Given the description of an element on the screen output the (x, y) to click on. 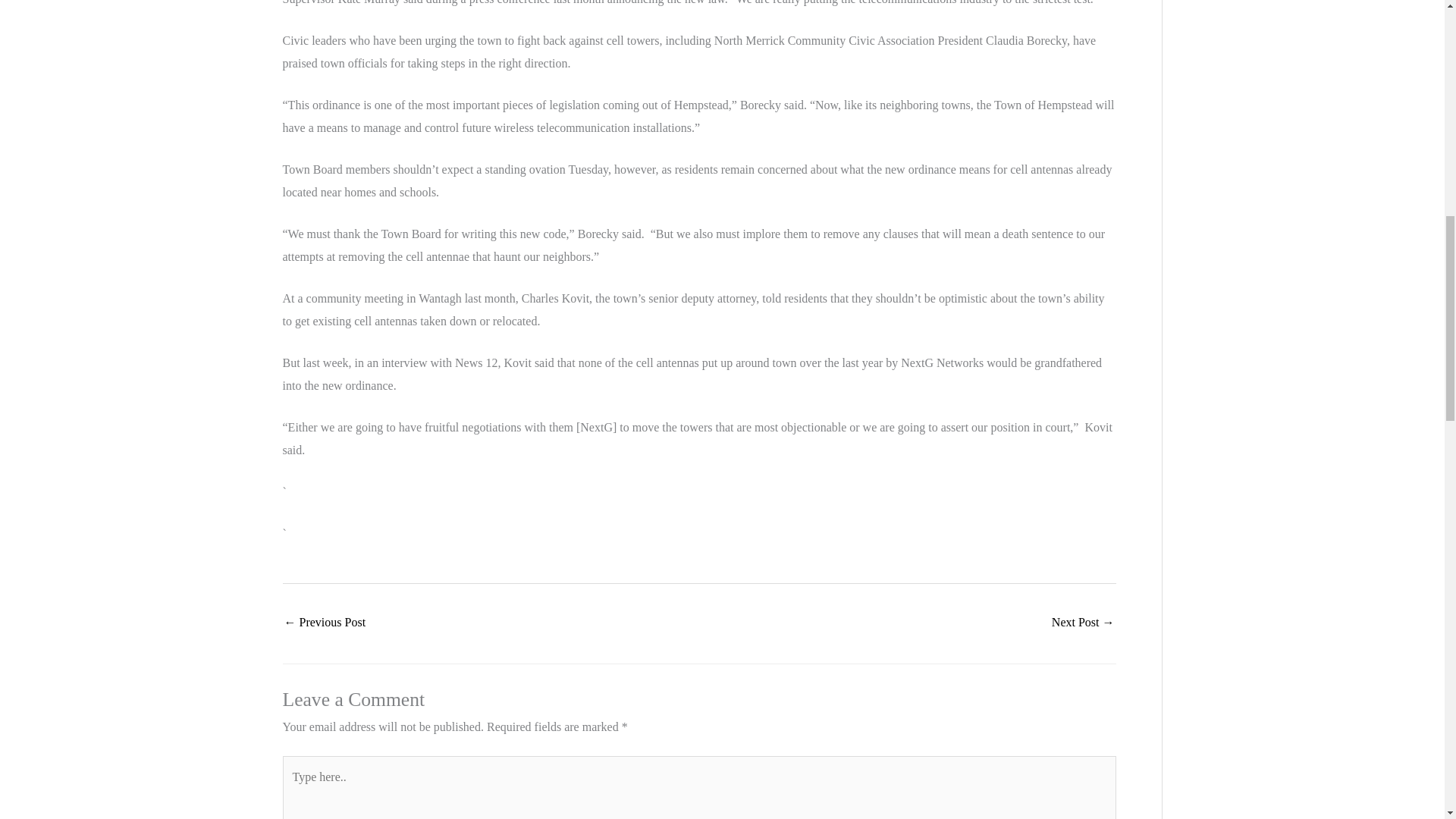
What shameful VA behavior. (324, 623)
Is your ear lobe creased? (1083, 623)
